Given the description of an element on the screen output the (x, y) to click on. 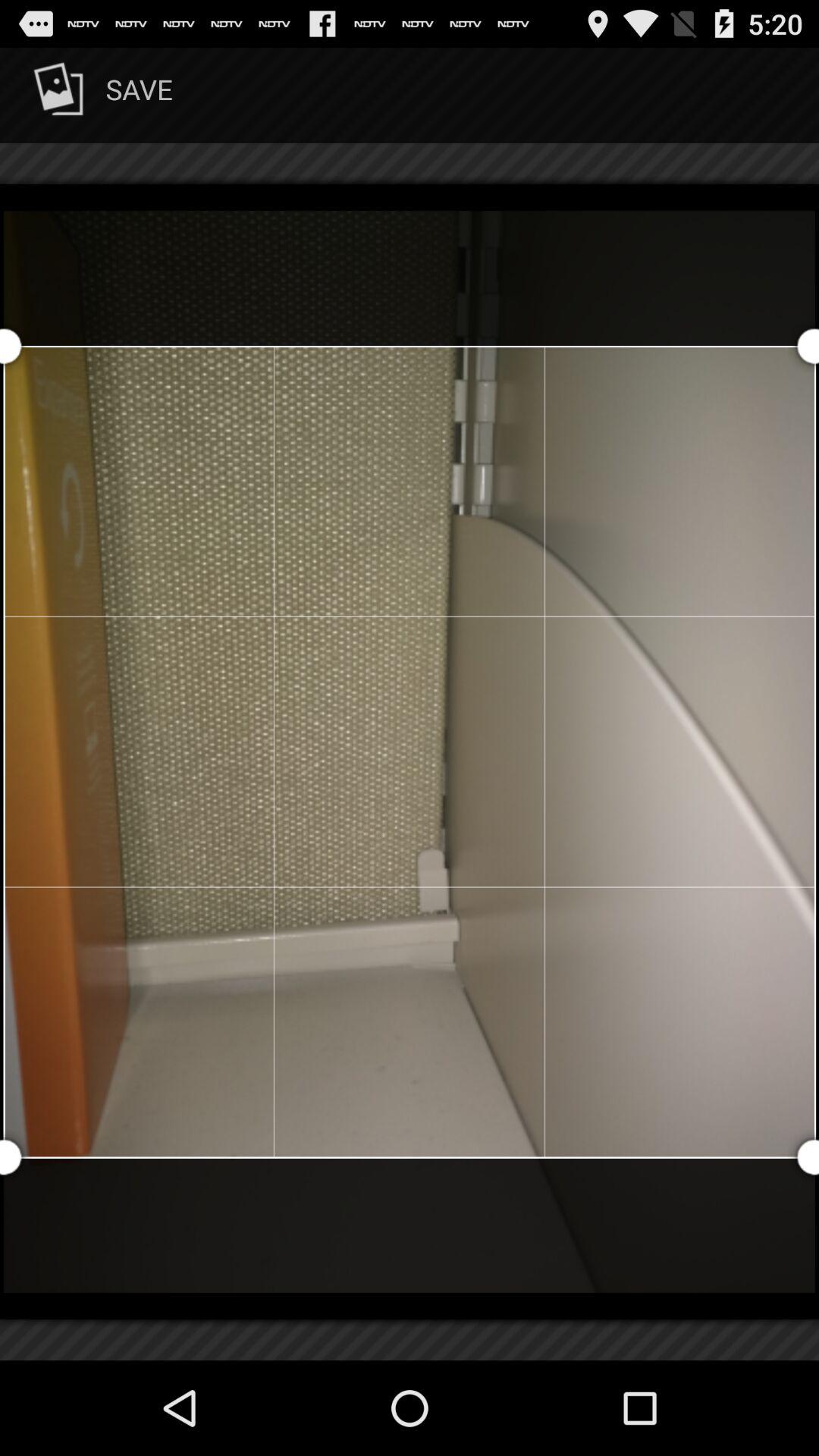
choose save app (100, 95)
